Given the description of an element on the screen output the (x, y) to click on. 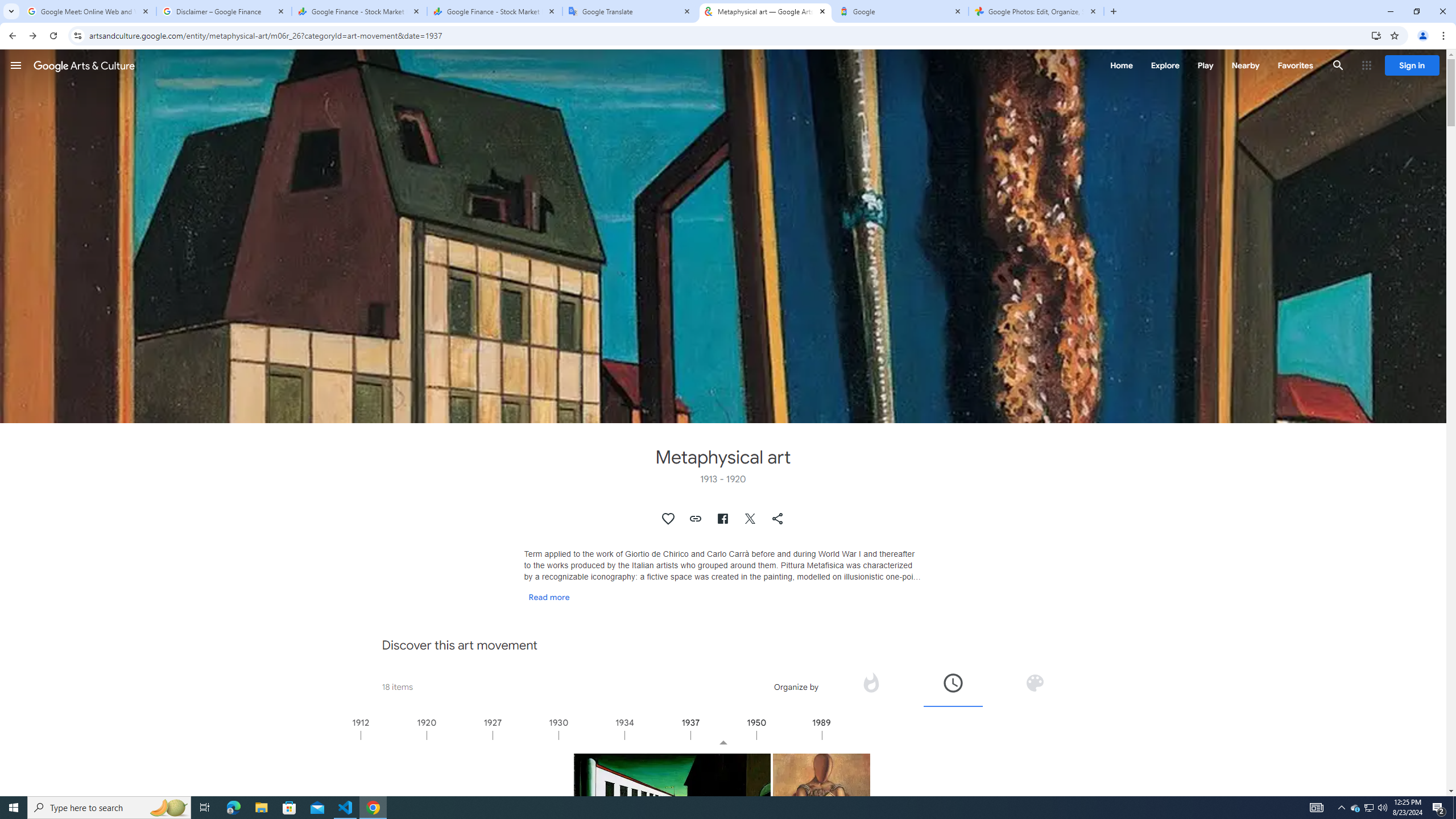
Install Google Arts & Culture (1376, 35)
Google Arts & Culture (84, 65)
Authenticate to favorite this asset. (668, 518)
1950 (788, 734)
Organize by popularity (870, 682)
1930 (590, 734)
Organize by time (952, 686)
Favorites (1295, 65)
Nearby (1244, 65)
1927 (525, 734)
